Given the description of an element on the screen output the (x, y) to click on. 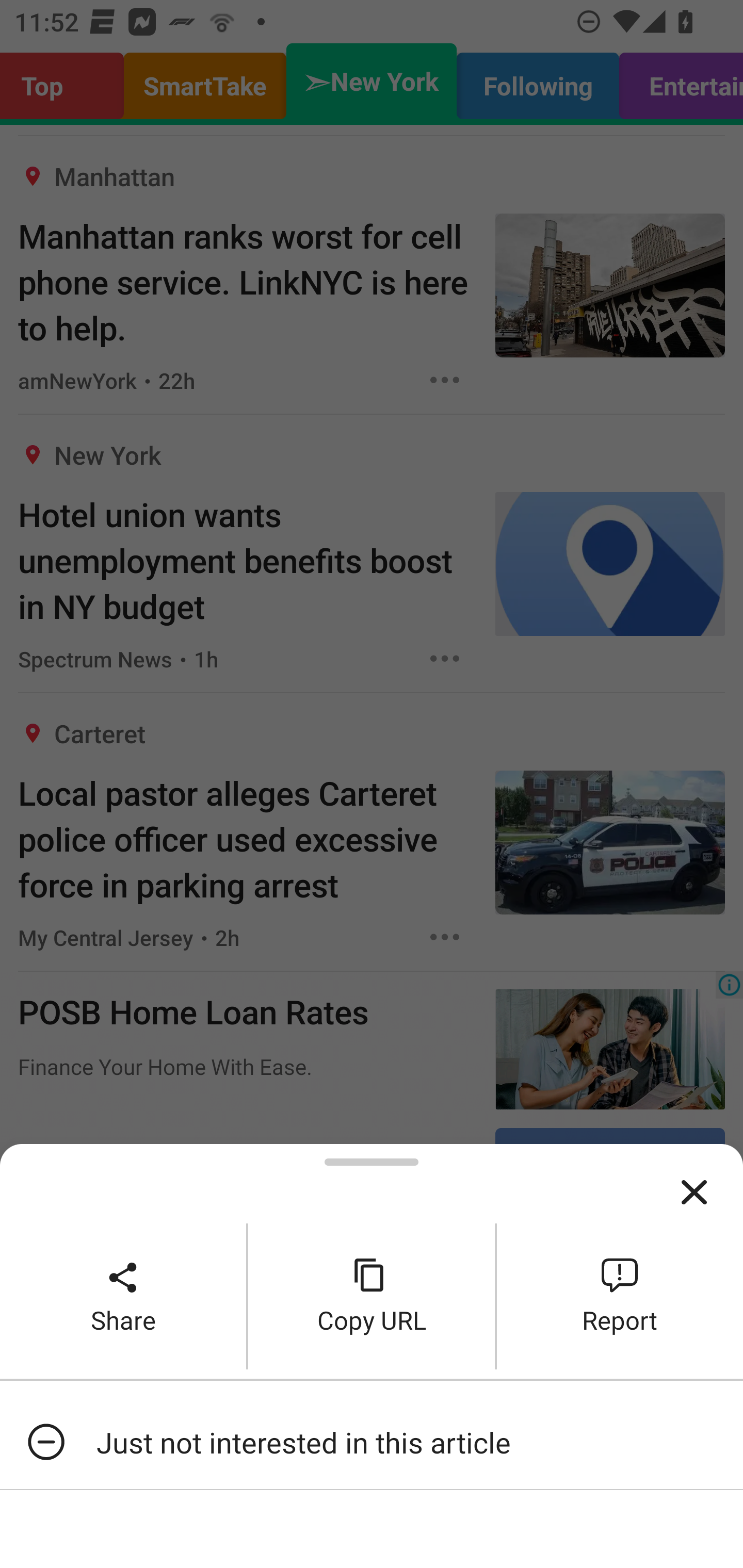
Close (694, 1192)
Share (122, 1295)
Copy URL (371, 1295)
Report (620, 1295)
Just not interested in this article (371, 1442)
